Given the description of an element on the screen output the (x, y) to click on. 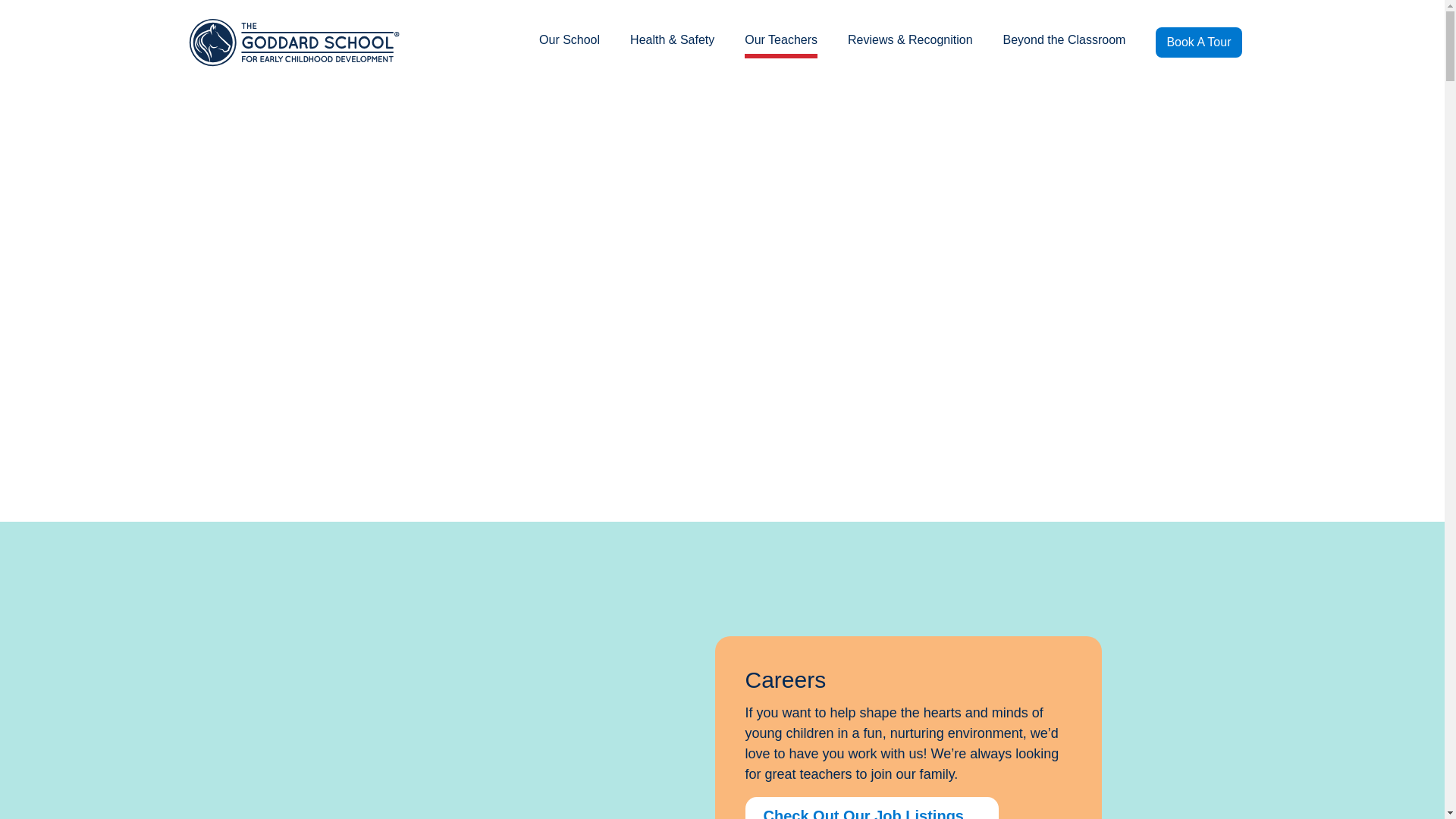
The Goddard Difference (441, 20)
School Locator (1192, 20)
Blog (896, 19)
Beyond the Classroom (1064, 41)
Our Teachers (780, 41)
Franchising (1074, 19)
Skip to content (26, 19)
Teachers (565, 19)
Check Out Our Job Listings (870, 807)
Family Feedback (672, 20)
